Given the description of an element on the screen output the (x, y) to click on. 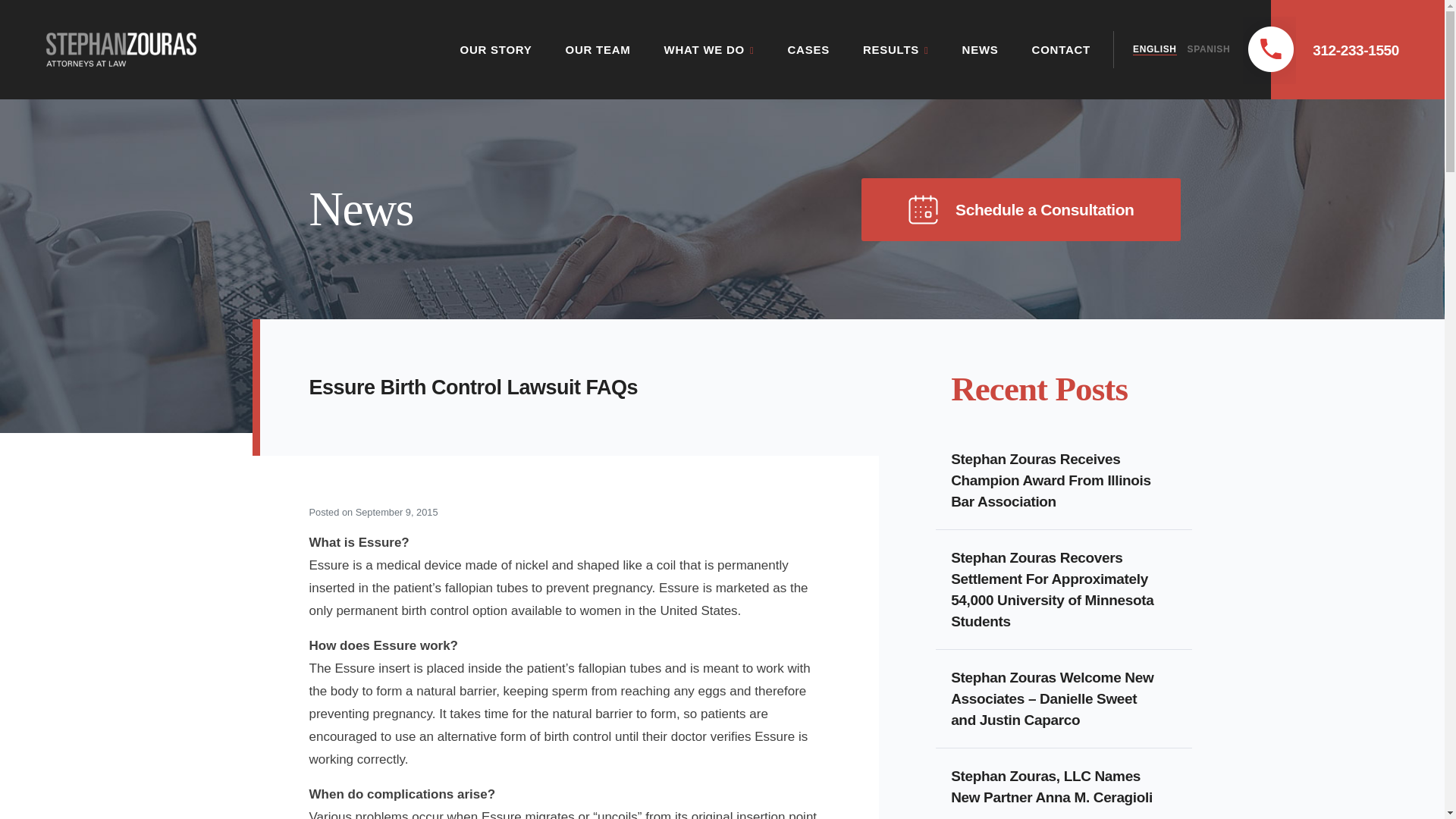
CONTACT (1061, 49)
ENGLISH (1154, 49)
OUR STORY (495, 49)
Our Story (495, 49)
Stephan Zouras, LLC (120, 48)
Results (895, 49)
Our Team (598, 49)
RESULTS (895, 49)
CASES (807, 49)
NEWS (980, 49)
Contact (1061, 49)
Schedule a Consultation (1020, 208)
News (980, 49)
